Given the description of an element on the screen output the (x, y) to click on. 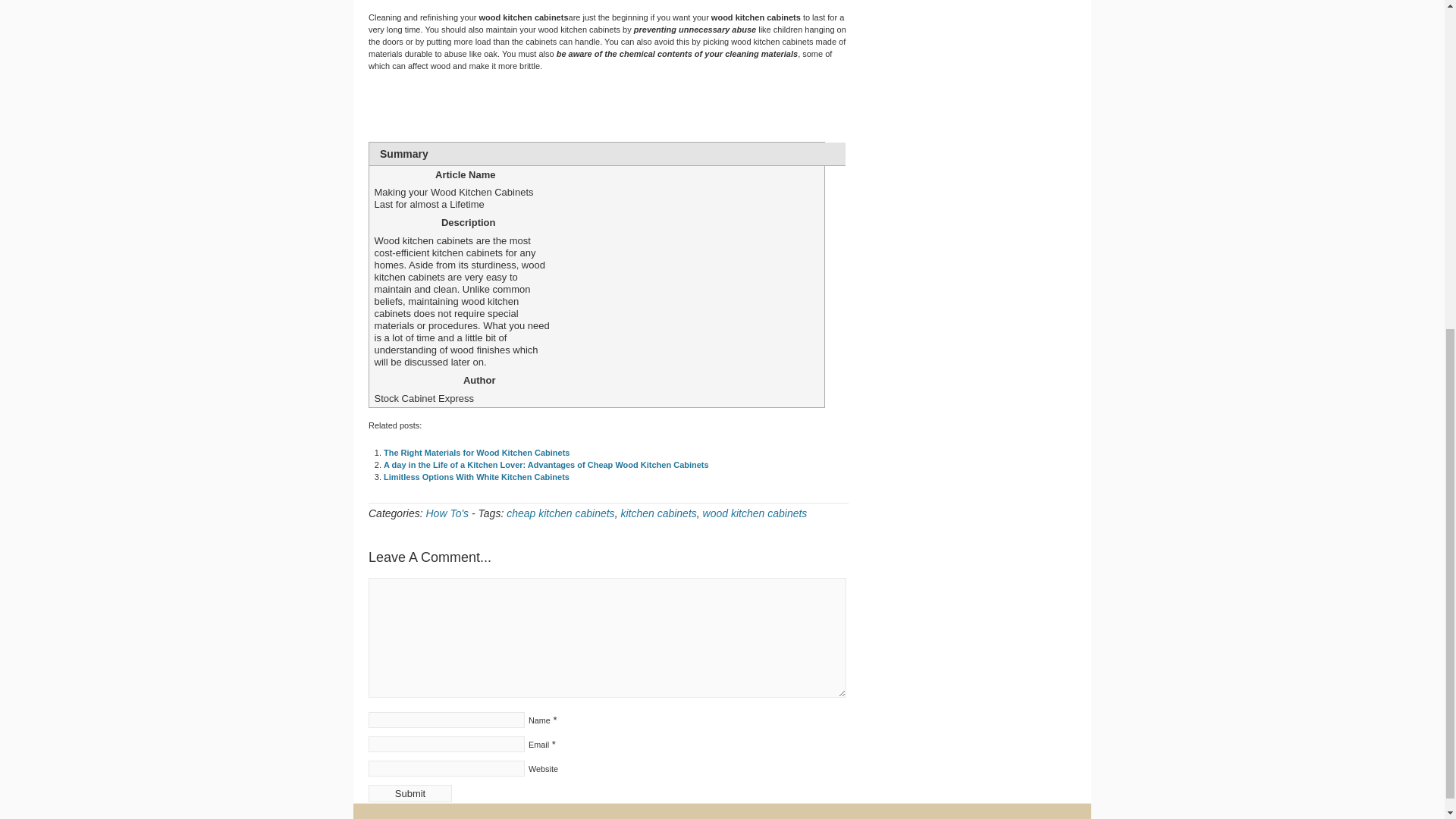
The Right Materials for Wood Kitchen Cabinets (476, 452)
Submit (409, 793)
wood kitchen cabinets (755, 512)
kitchen cabinets (657, 512)
Submit (409, 793)
cheap kitchen cabinets (560, 512)
Limitless Options With White Kitchen Cabinets (476, 476)
Limitless Options With White Kitchen Cabinets (476, 476)
The Right Materials for Wood Kitchen  Cabinets (476, 452)
How To's (446, 512)
